Given the description of an element on the screen output the (x, y) to click on. 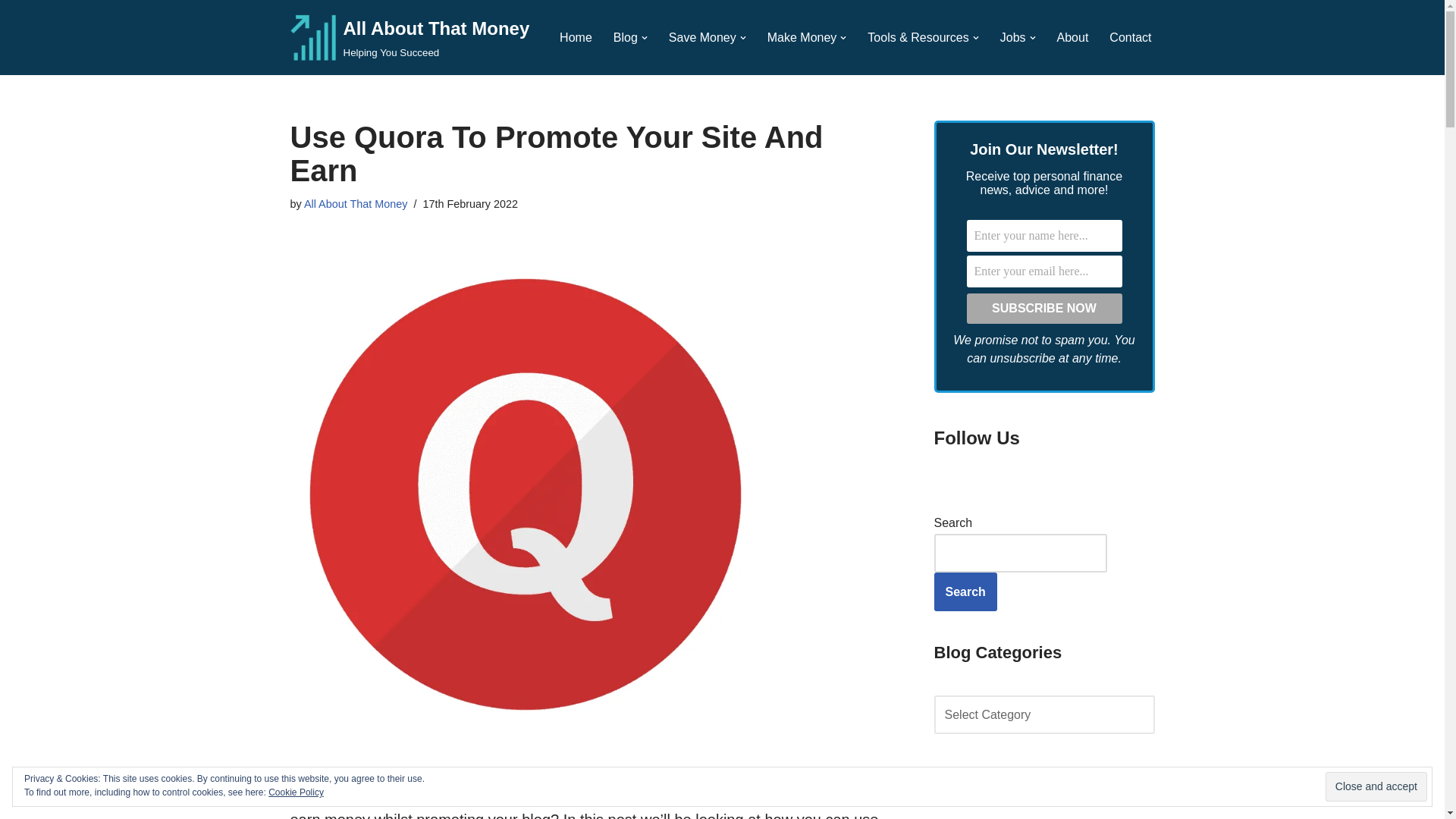
Subscribe Now (409, 37)
Make Money (1043, 308)
Blog (802, 37)
Close and accept (624, 37)
Skip to content (1375, 786)
Posts by All About That Money (11, 31)
Home (355, 203)
Save Money (575, 37)
